Given the description of an element on the screen output the (x, y) to click on. 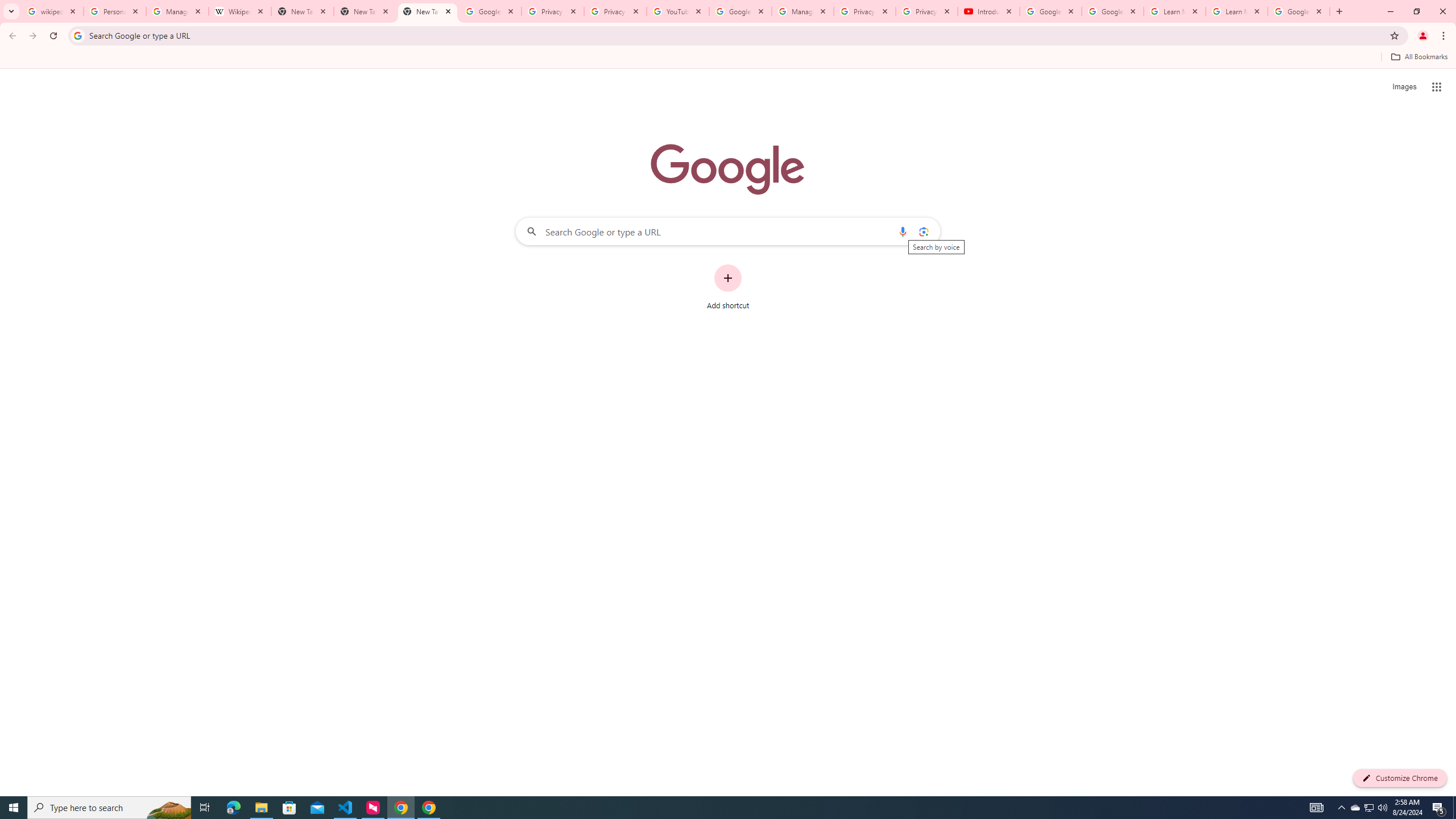
Google Account (1298, 11)
New Tab (365, 11)
Google Account Help (740, 11)
YouTube (678, 11)
Manage your Location History - Google Search Help (177, 11)
